Given the description of an element on the screen output the (x, y) to click on. 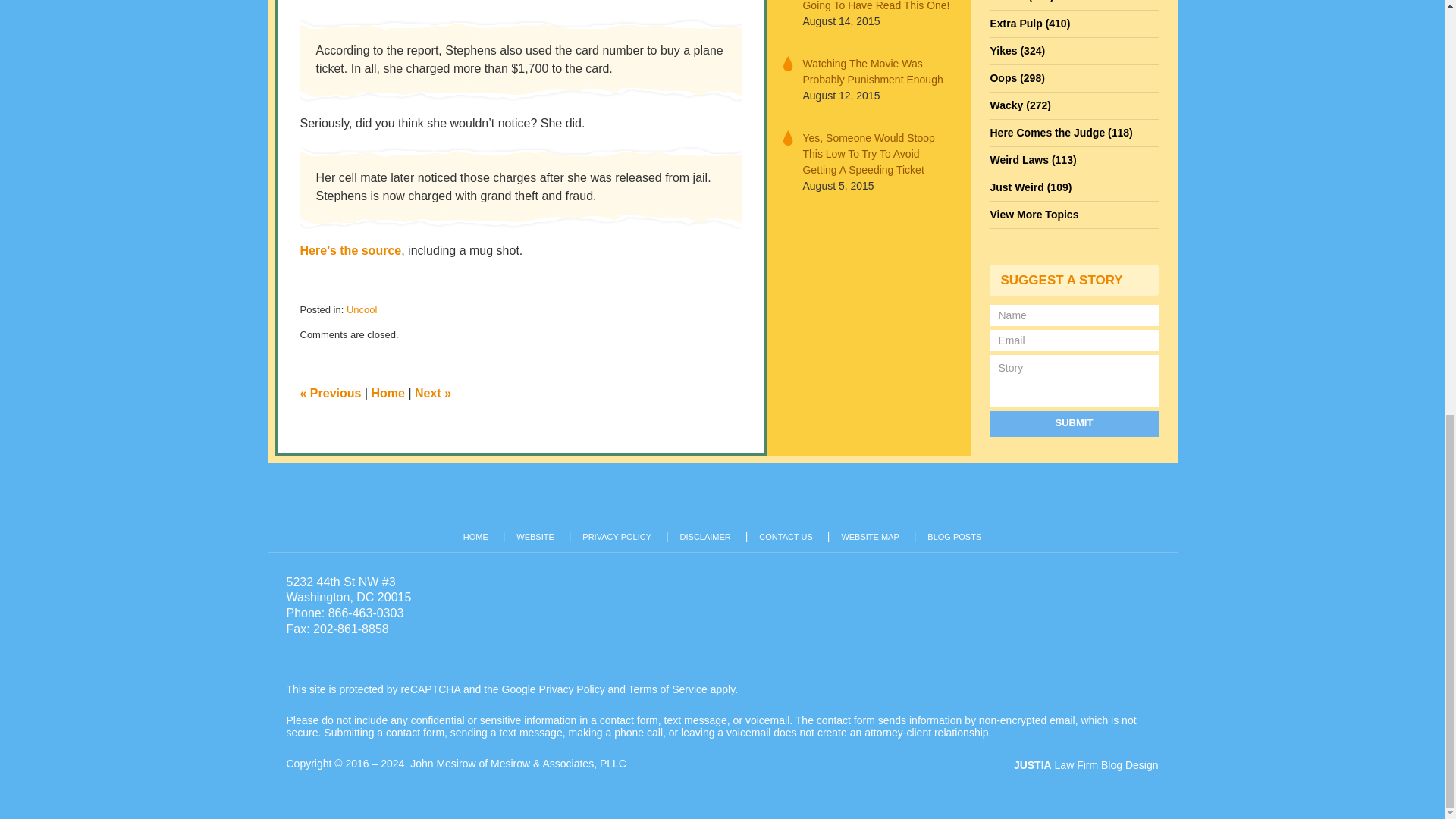
View all posts in Uncool (361, 309)
Watching The Movie Was Probably Punishment Enough (877, 71)
Uncool (361, 309)
Curse You Hidden Camera! (432, 392)
Home (387, 392)
